Given the description of an element on the screen output the (x, y) to click on. 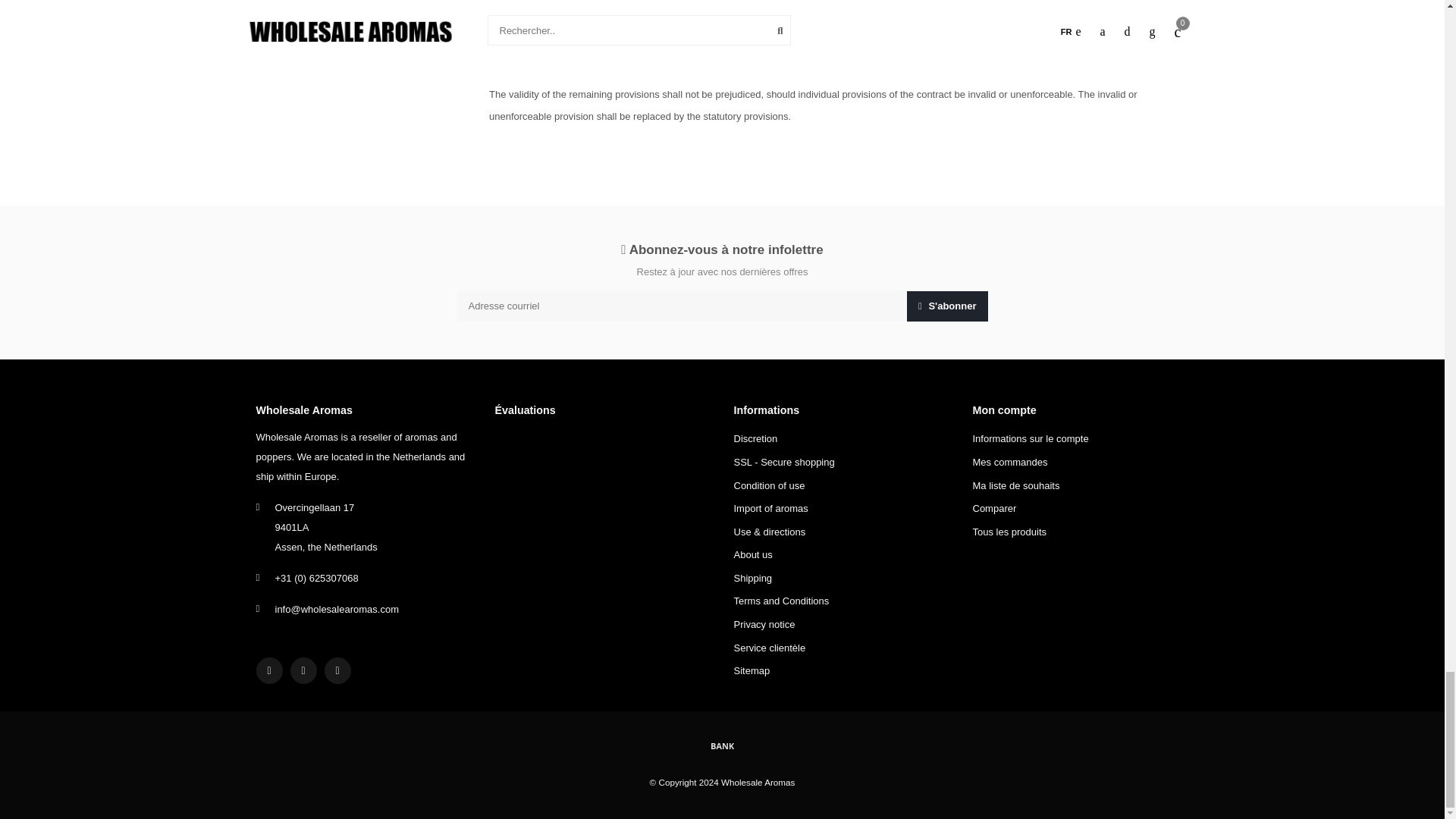
About us (753, 555)
Shipping (753, 578)
Discretion (755, 439)
Condition of use (769, 486)
Terms and Conditions (781, 601)
Discretion (755, 439)
